Given the description of an element on the screen output the (x, y) to click on. 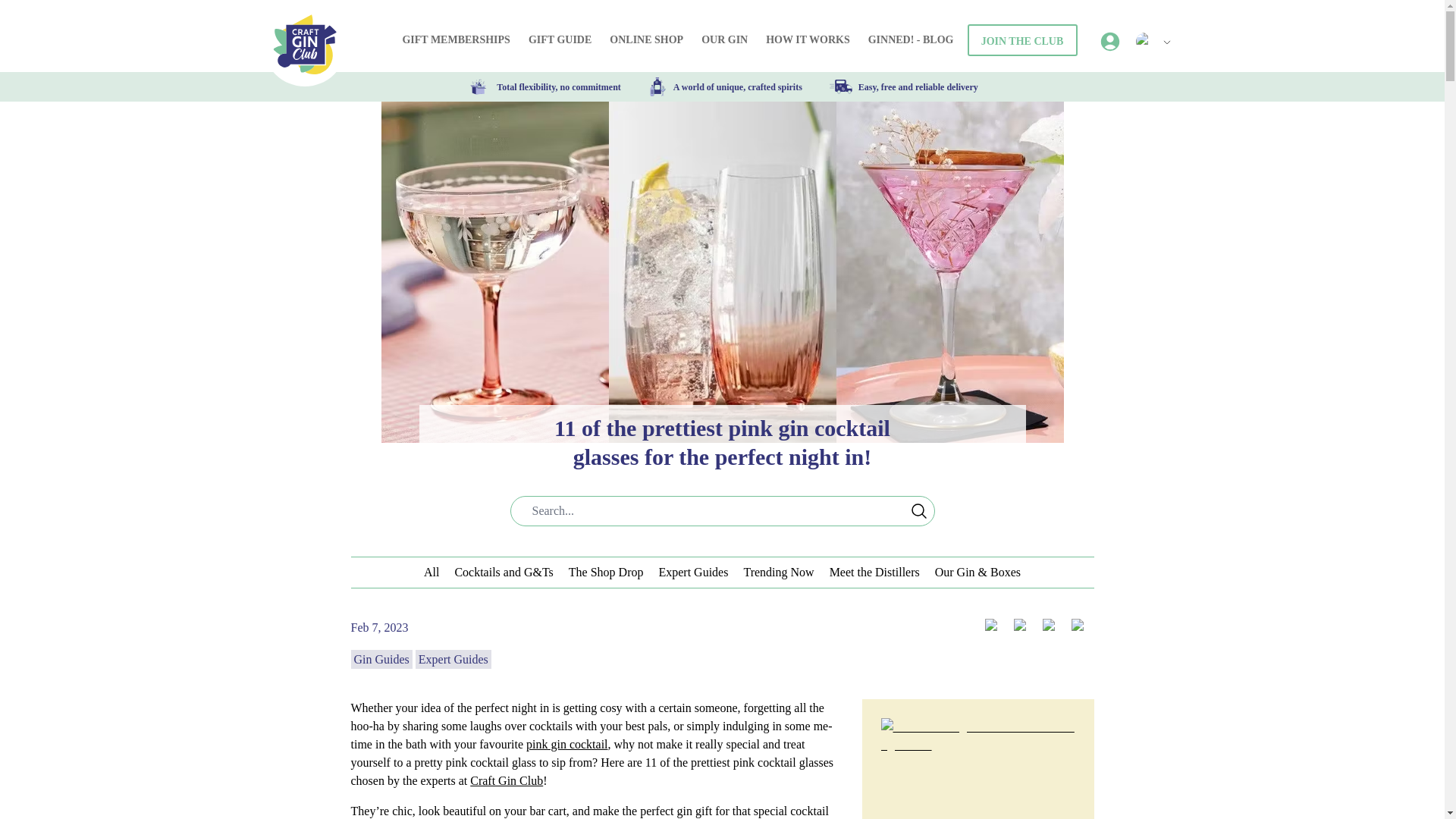
GIFT MEMBERSHIPS (456, 38)
JOIN THE CLUB (1022, 40)
ONLINE SHOP (646, 38)
Trending Now (777, 572)
The Shop Drop (606, 572)
GIFT MEMBERSHIPS (456, 38)
OUR GIN (725, 38)
ONLINE SHOP (646, 38)
Meet the Distillers (874, 572)
OUR GIN (724, 38)
